Given the description of an element on the screen output the (x, y) to click on. 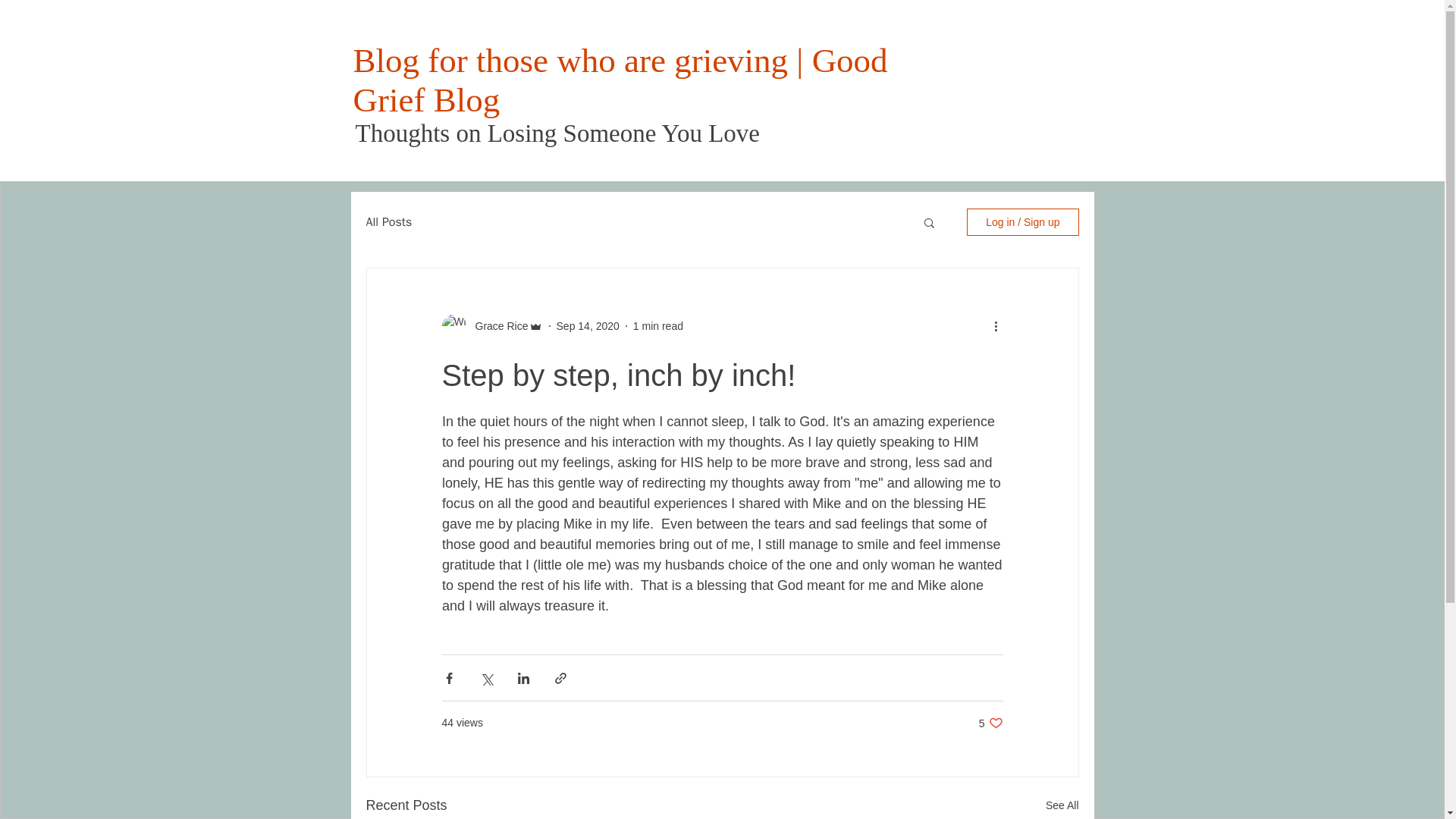
Sep 14, 2020 (588, 326)
Thoughts on Losing Someone You Love (557, 133)
Grace Rice (496, 326)
See All (990, 722)
1 min read (1061, 805)
All Posts (657, 326)
